Given the description of an element on the screen output the (x, y) to click on. 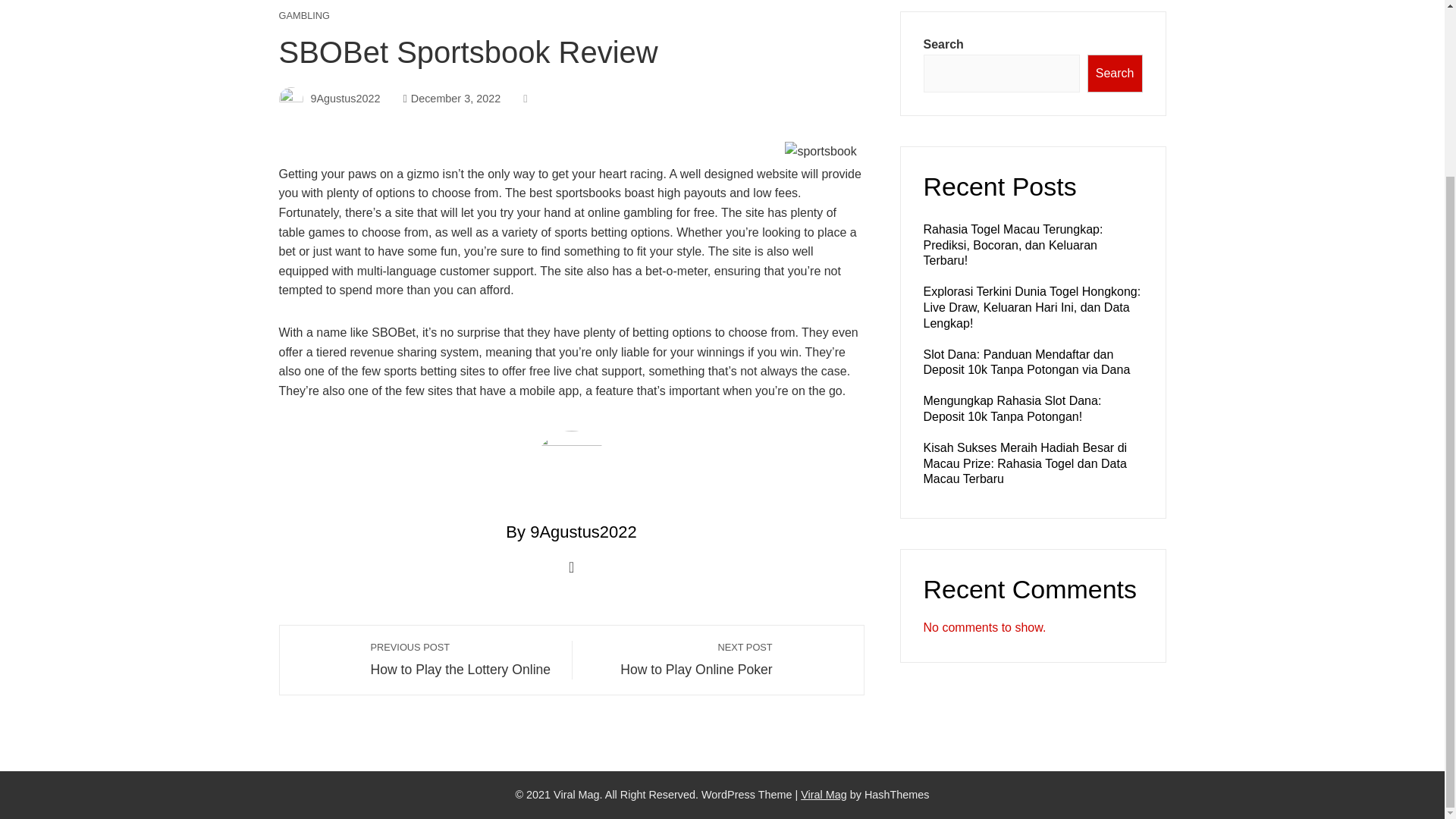
Mengungkap Rahasia Slot Dana: Deposit 10k Tanpa Potongan! (462, 658)
Download Viral News (1012, 408)
Viral Mag (823, 793)
GAMBLING (823, 793)
Search (304, 16)
